Given the description of an element on the screen output the (x, y) to click on. 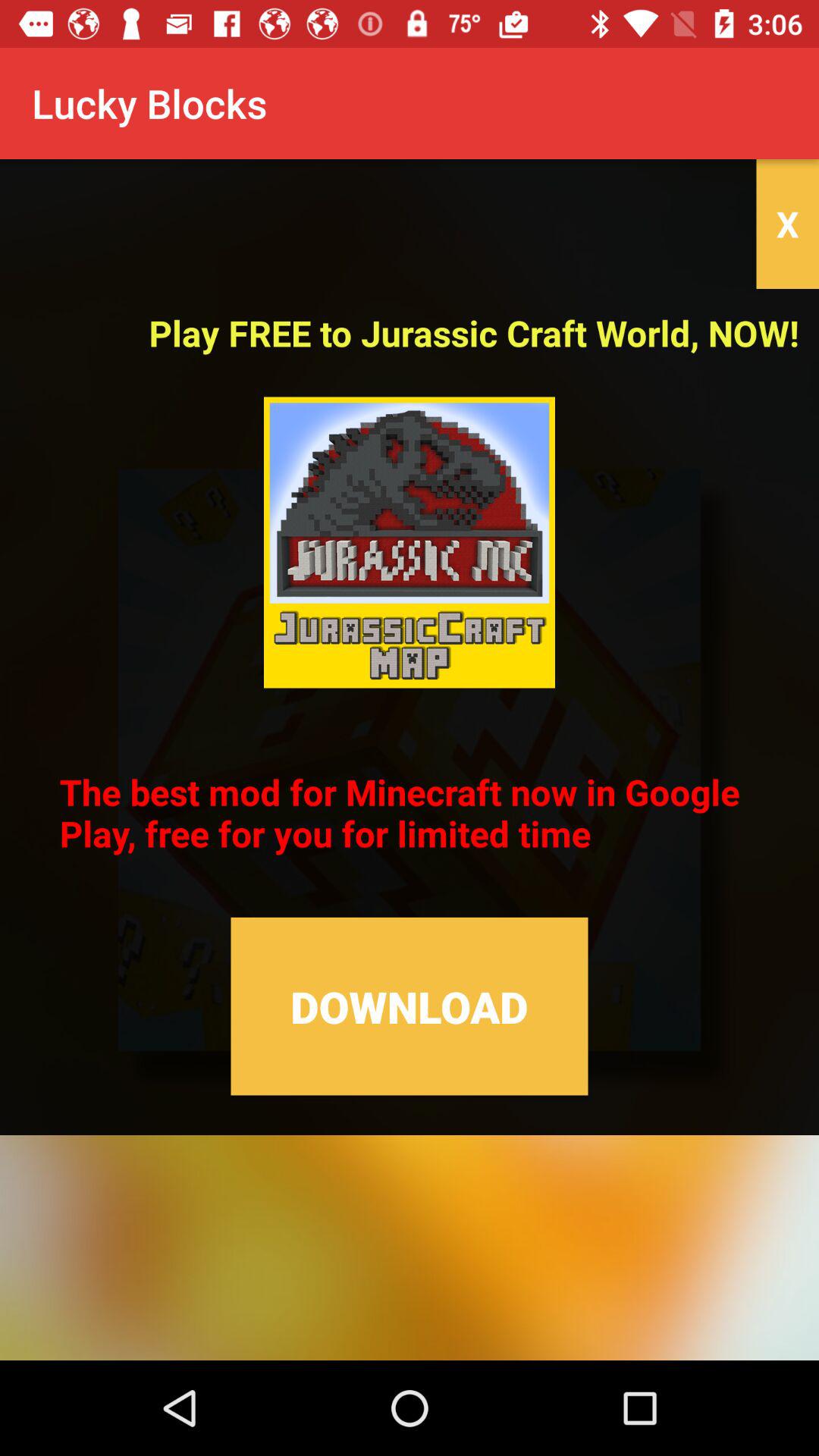
open the download (409, 1006)
